Given the description of an element on the screen output the (x, y) to click on. 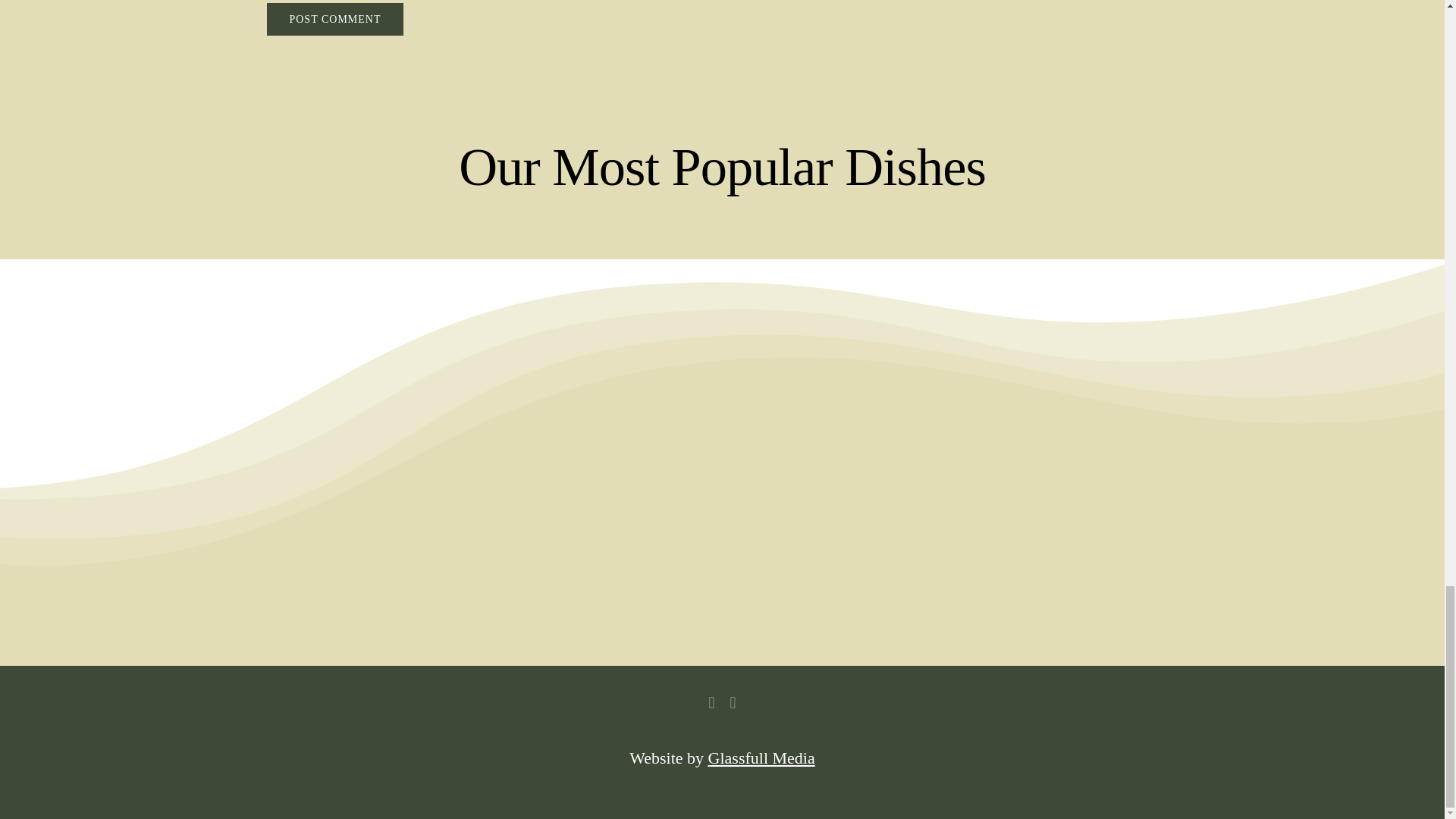
Glassfull Media (761, 757)
Post Comment (334, 19)
Post Comment (334, 19)
